Given the description of an element on the screen output the (x, y) to click on. 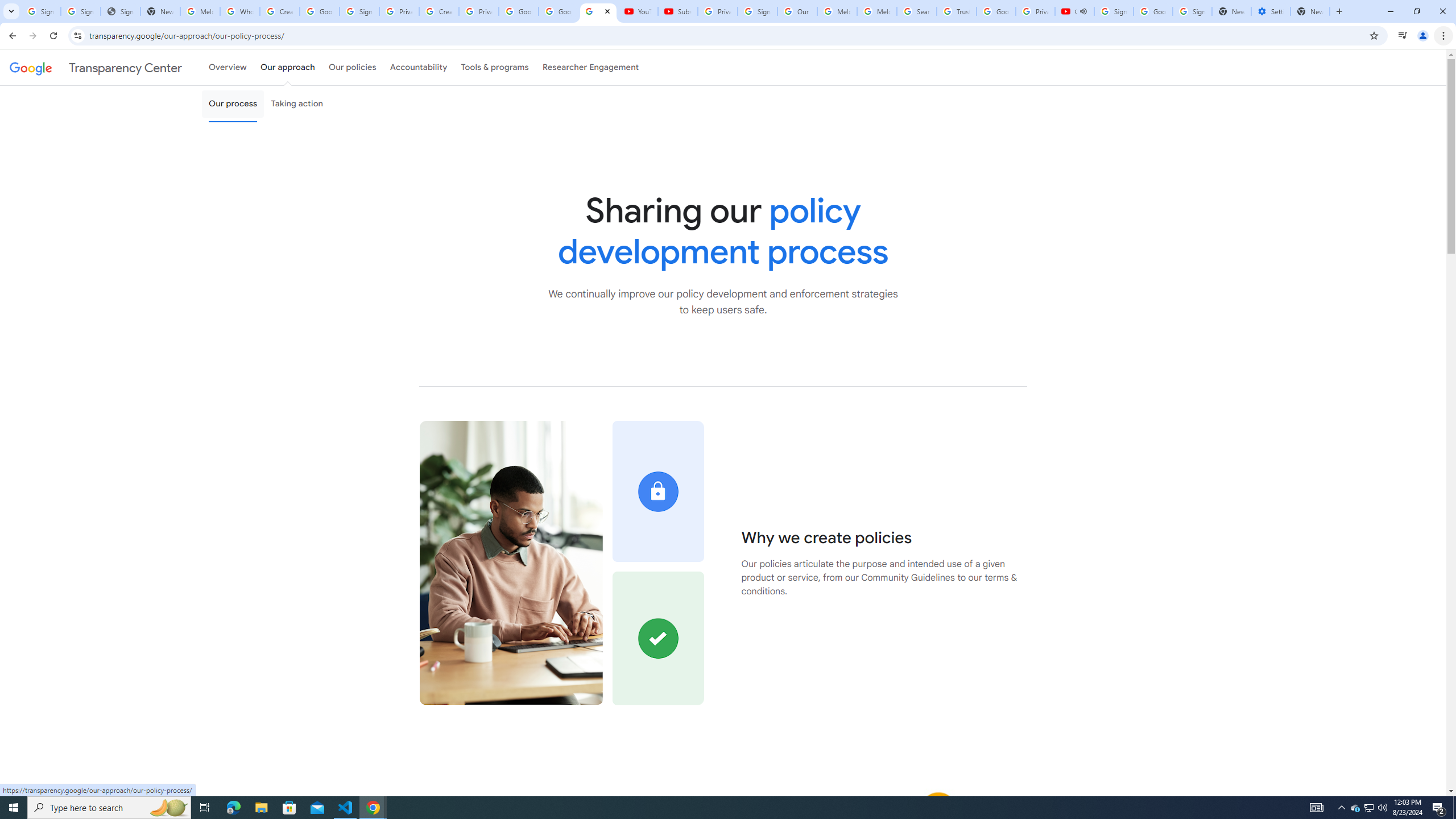
Researcher Engagement (590, 67)
Mute tab (1082, 10)
New Tab (1310, 11)
Tools & programs (494, 67)
Settings - Addresses and more (1270, 11)
Transparency Center (95, 67)
